Given the description of an element on the screen output the (x, y) to click on. 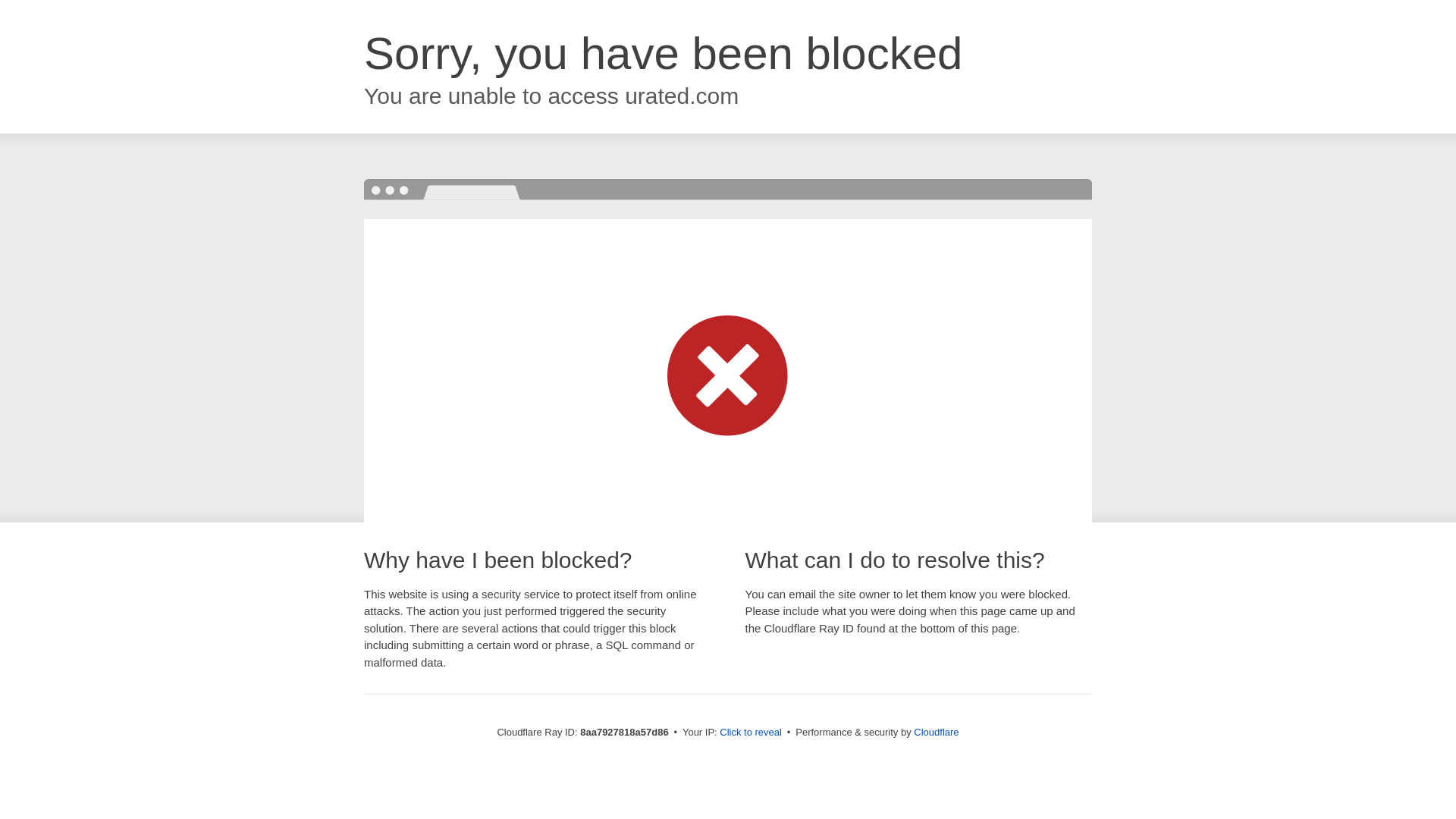
Click to reveal (750, 732)
Cloudflare (936, 731)
